Given the description of an element on the screen output the (x, y) to click on. 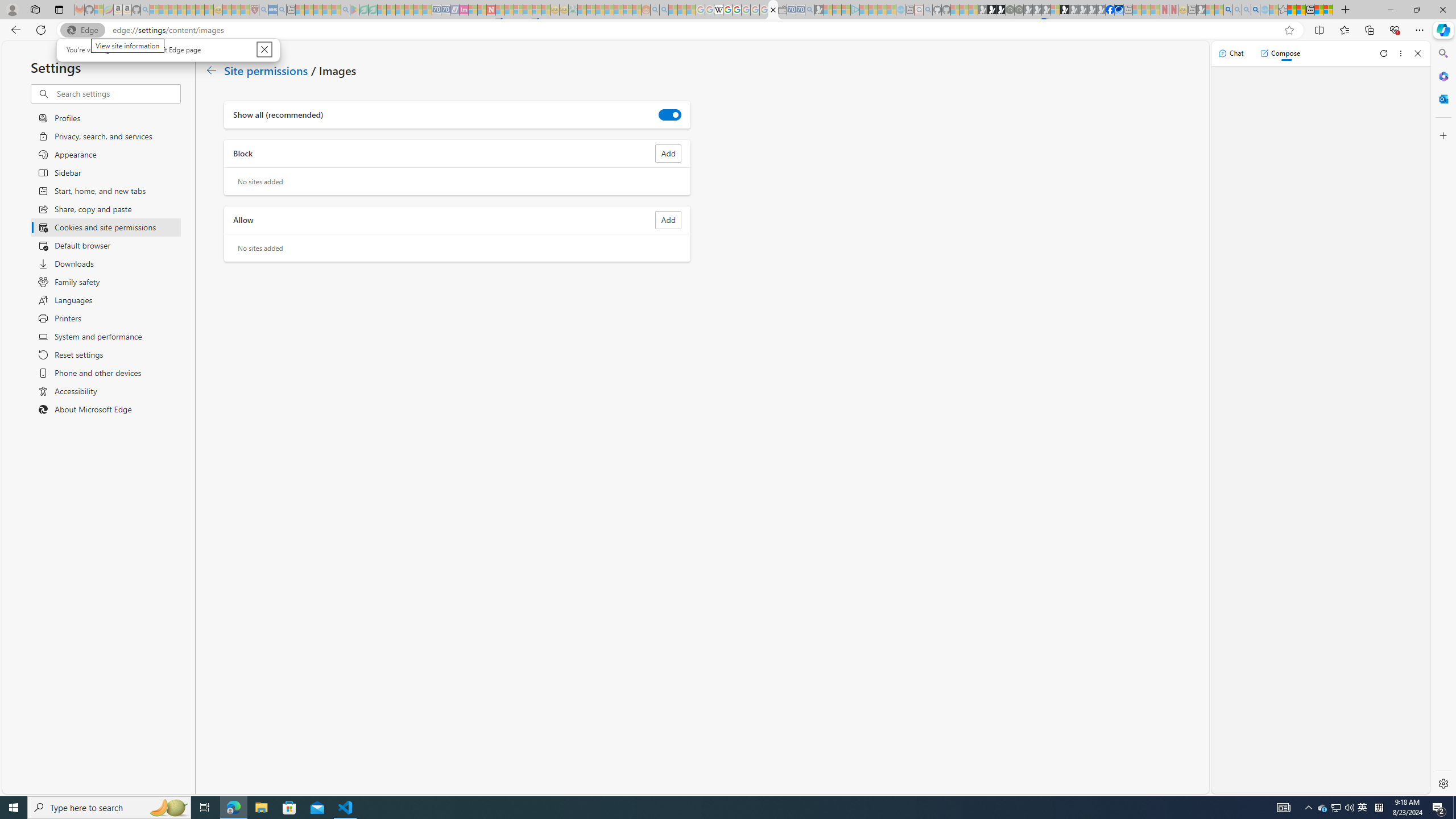
Play Zoo Boom in your browser | Games from Microsoft Start (991, 9)
utah sues federal government - Search - Sleeping (281, 9)
Microsoft Store (289, 807)
